Given the description of an element on the screen output the (x, y) to click on. 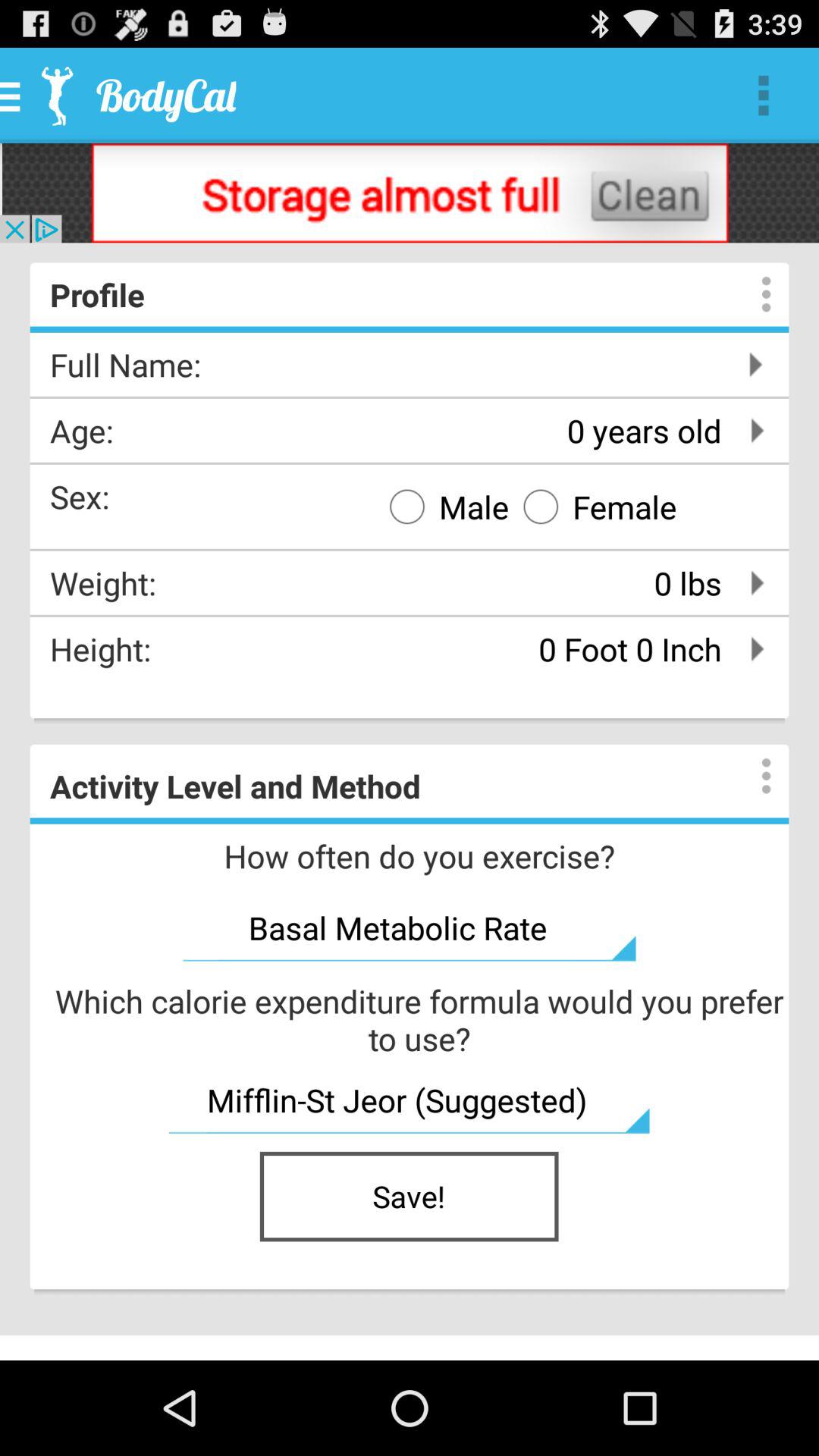
free space on smartphone (409, 192)
